Given the description of an element on the screen output the (x, y) to click on. 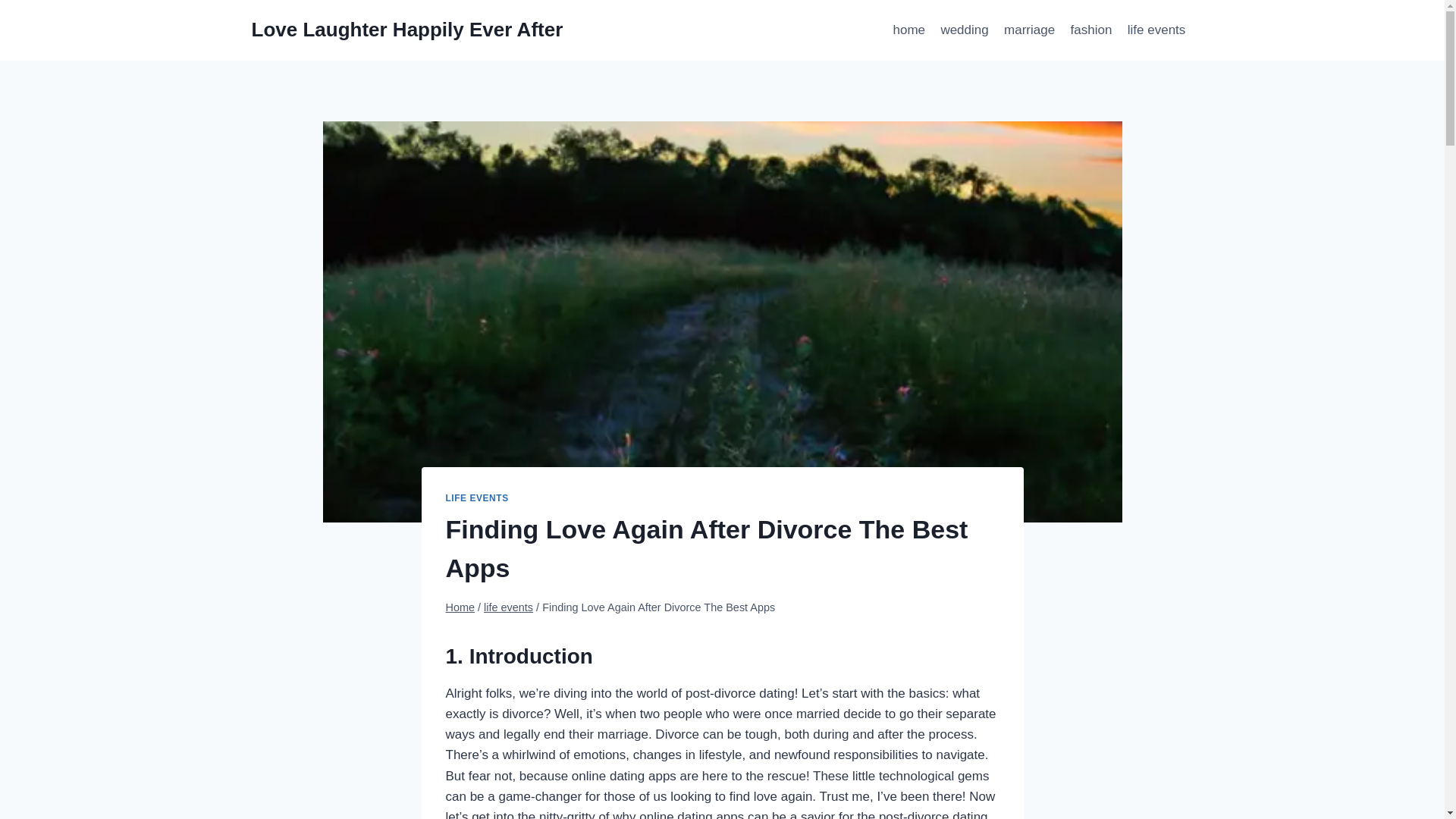
Love Laughter Happily Ever After (407, 29)
life events (507, 607)
wedding (964, 30)
life events (1156, 30)
LIFE EVENTS (476, 498)
marriage (1028, 30)
Home (460, 607)
home (909, 30)
fashion (1090, 30)
